Given the description of an element on the screen output the (x, y) to click on. 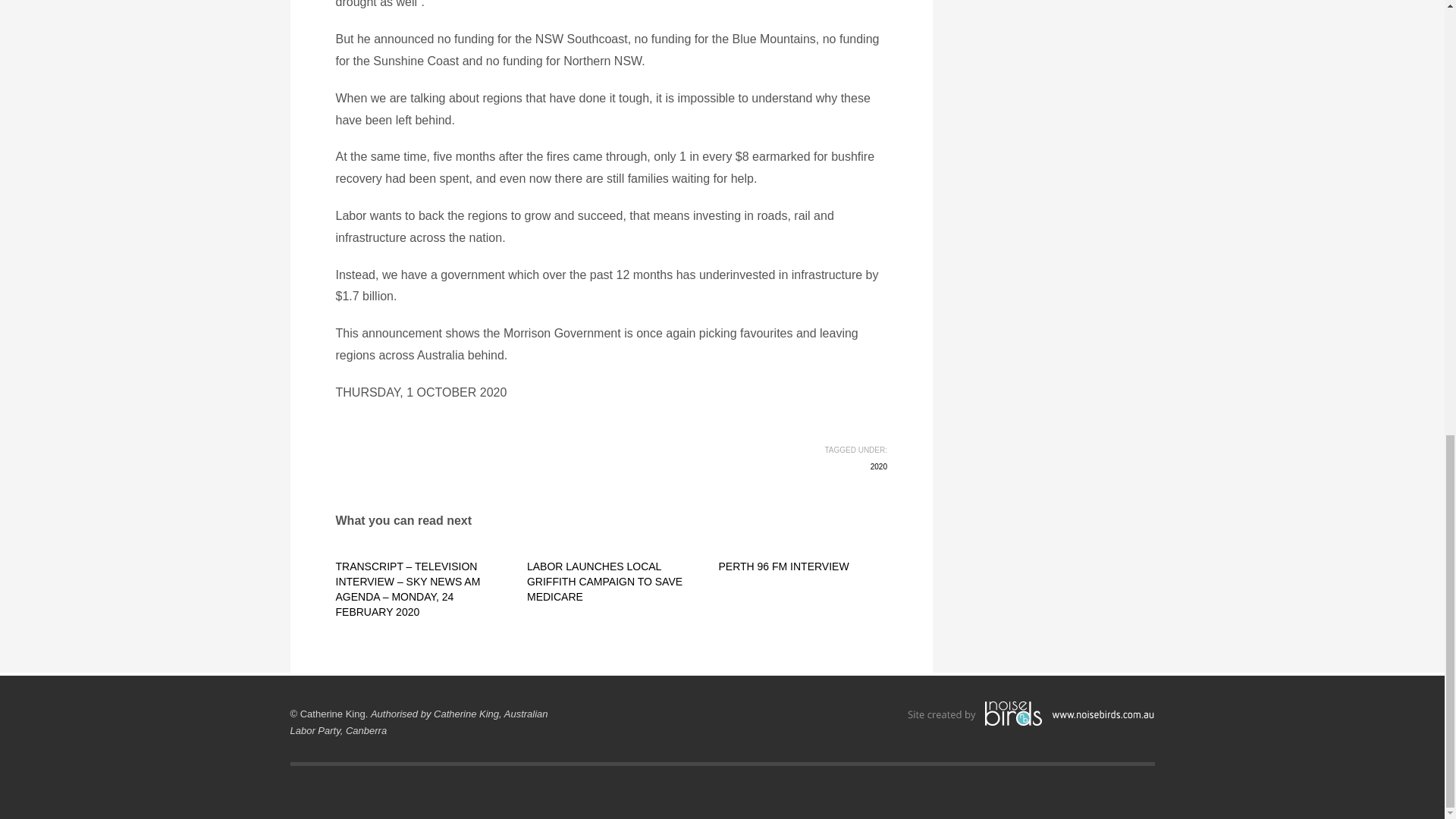
LABOR LAUNCHES LOCAL GRIFFITH CAMPAIGN TO SAVE MEDICARE (604, 581)
PERTH 96 FM INTERVIEW (782, 566)
Noise Birds (1030, 713)
2020 (878, 466)
